Given the description of an element on the screen output the (x, y) to click on. 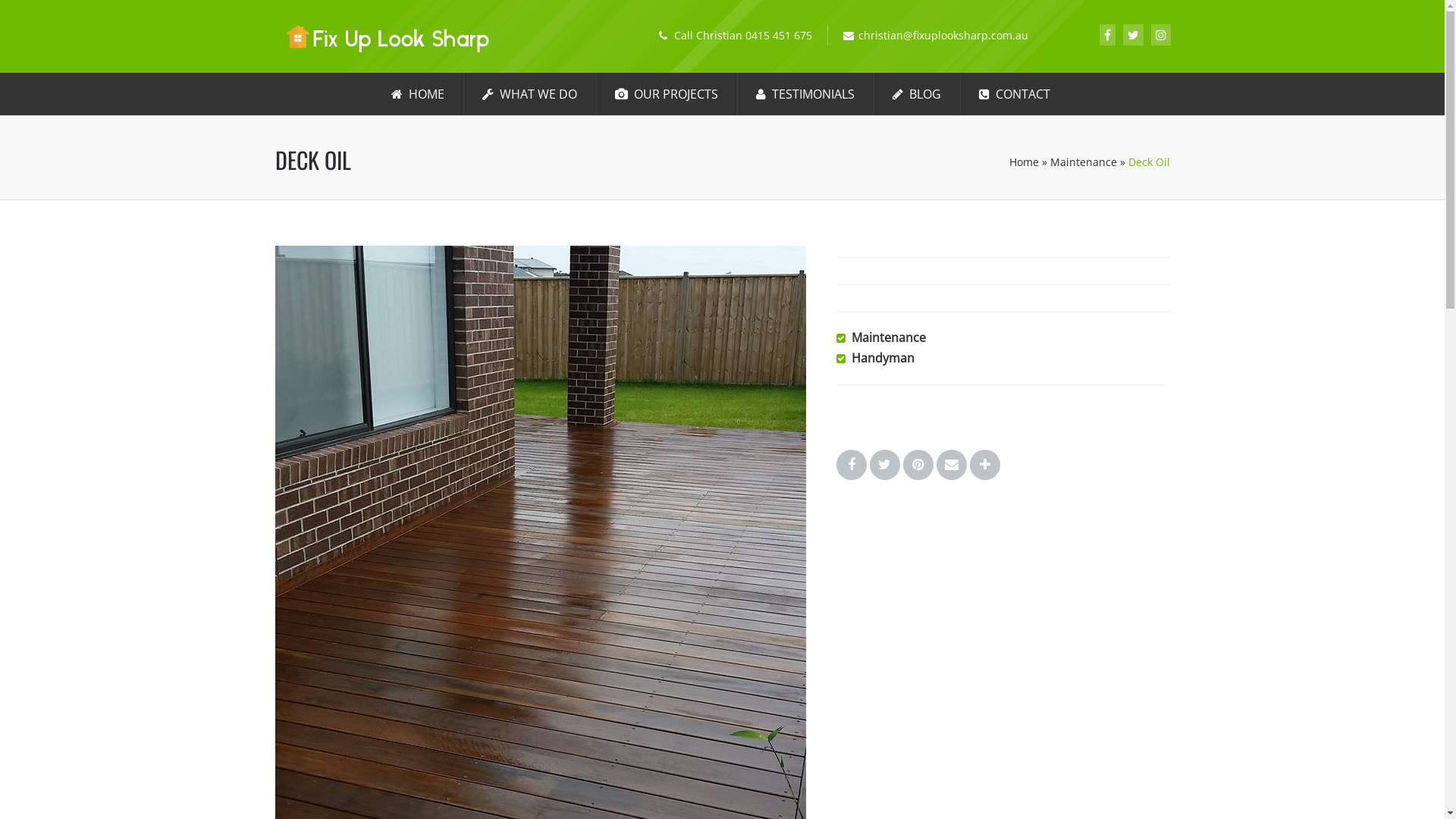
OUR PROJECTS Element type: text (665, 94)
Maintenance Element type: text (1082, 161)
CONTACT Element type: text (1013, 94)
HOME Element type: text (417, 94)
Home Element type: text (1023, 161)
BLOG Element type: text (915, 94)
WHAT WE DO Element type: text (529, 94)
TESTIMONIALS Element type: text (804, 94)
